Given the description of an element on the screen output the (x, y) to click on. 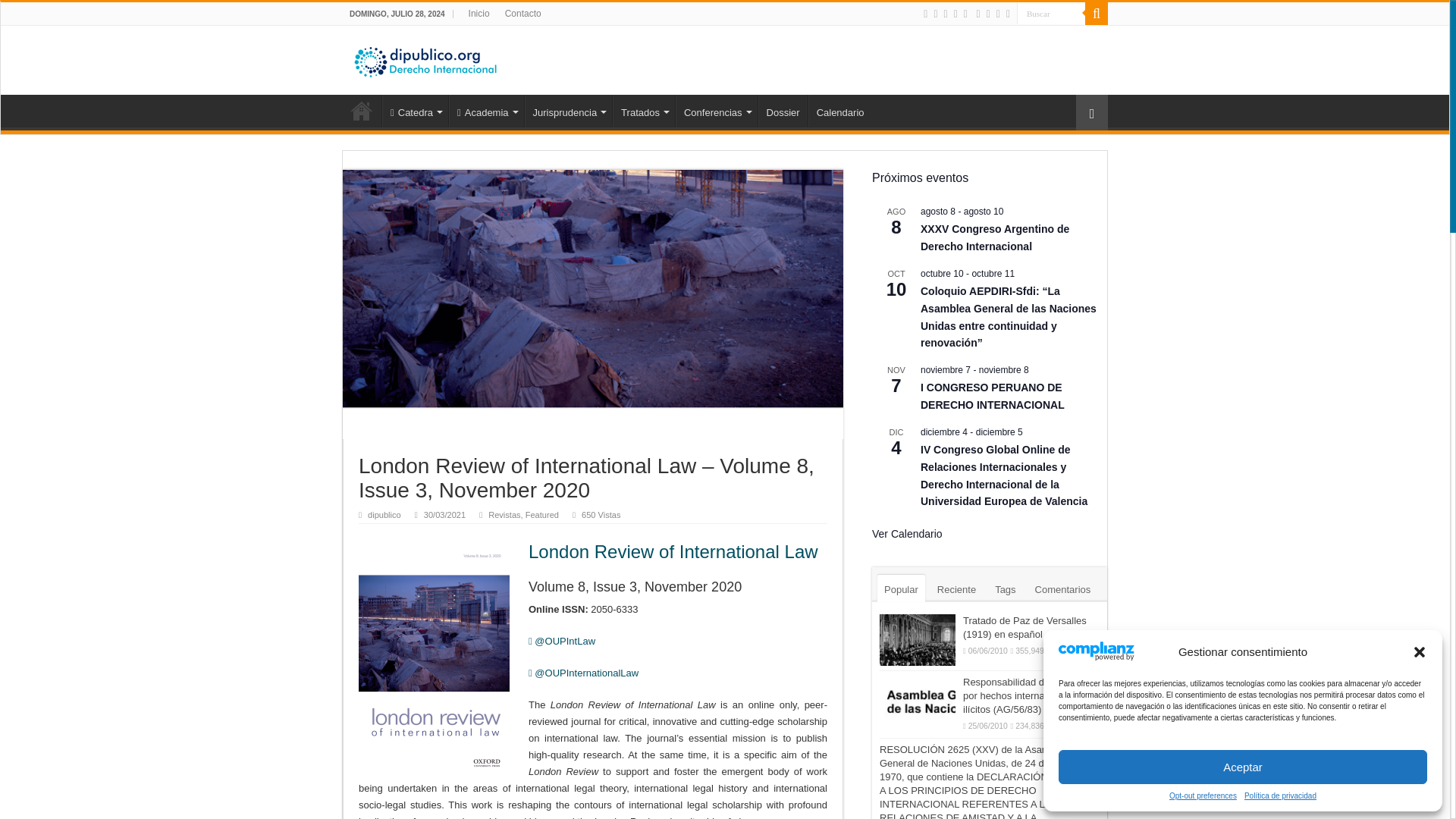
Buscar (1050, 13)
Opt-out preferences (1202, 795)
Aceptar (1242, 766)
Buscar (1050, 13)
Buscar (1050, 13)
